Given the description of an element on the screen output the (x, y) to click on. 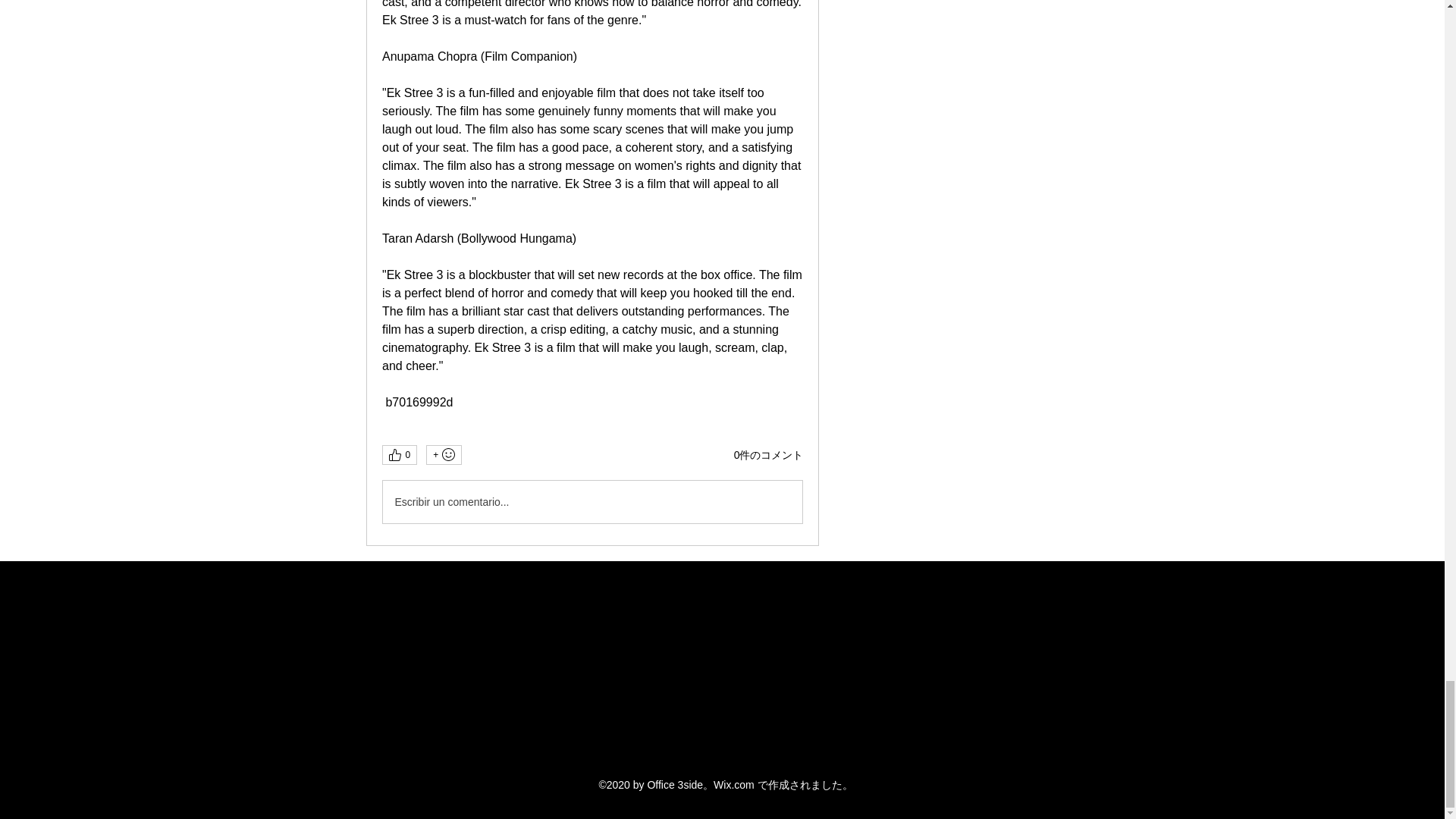
Escribir un comentario... (591, 501)
